Given the description of an element on the screen output the (x, y) to click on. 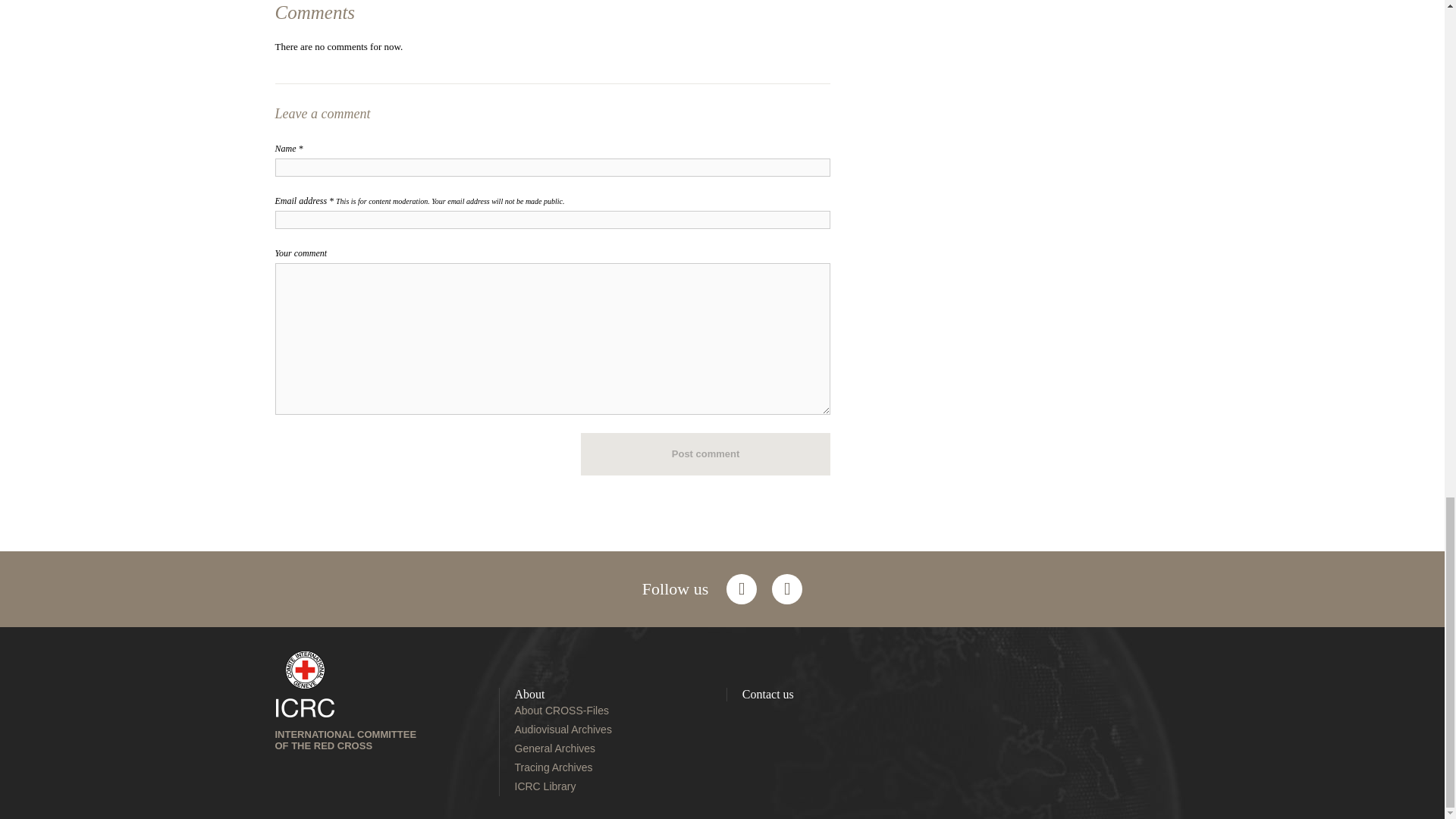
Post comment (705, 454)
